Given the description of an element on the screen output the (x, y) to click on. 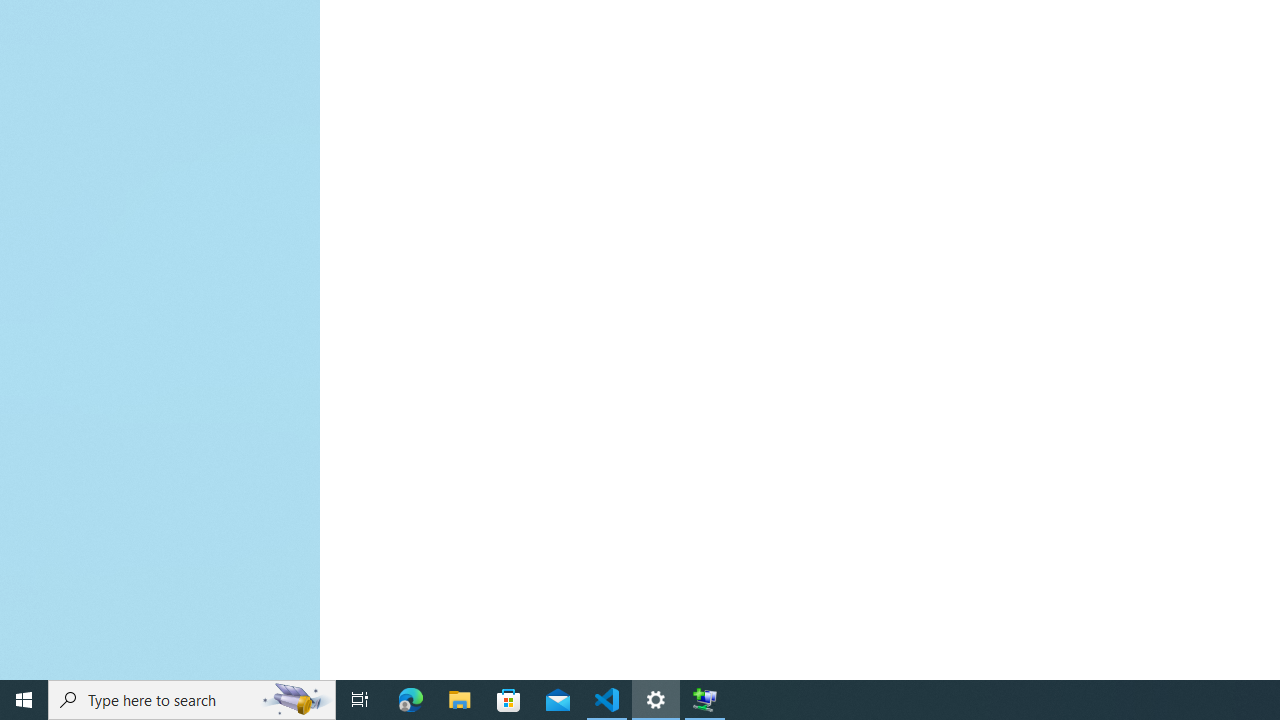
Search highlights icon opens search home window (295, 699)
Extensible Wizards Host Process - 1 running window (704, 699)
Task View (359, 699)
Start (24, 699)
Visual Studio Code - 1 running window (607, 699)
Type here to search (191, 699)
Microsoft Edge (411, 699)
Settings - 1 running window (656, 699)
Microsoft Store (509, 699)
File Explorer (460, 699)
